Given the description of an element on the screen output the (x, y) to click on. 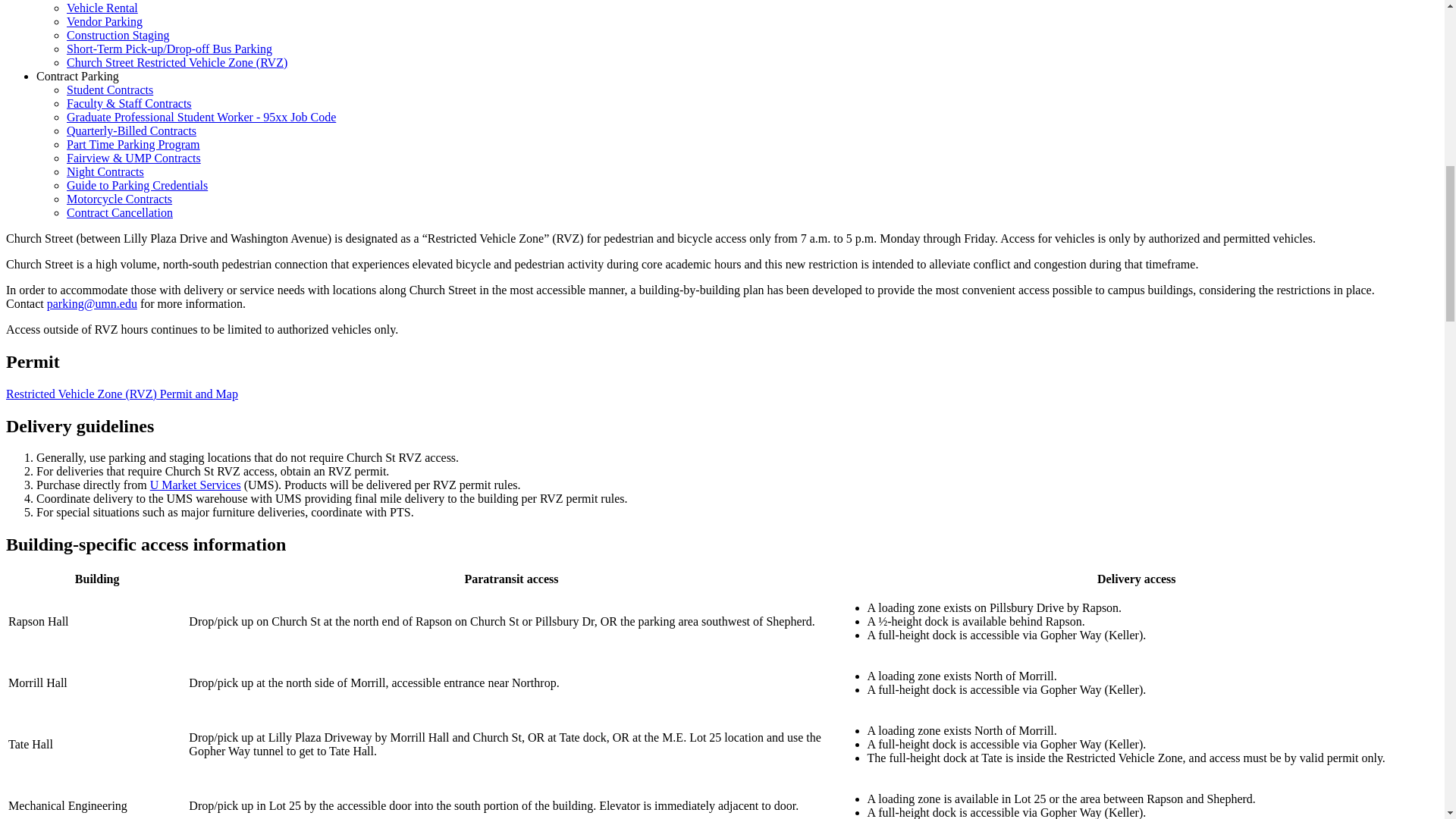
Email PTS (91, 303)
U Market Services (195, 484)
RSV Form (121, 393)
